Given the description of an element on the screen output the (x, y) to click on. 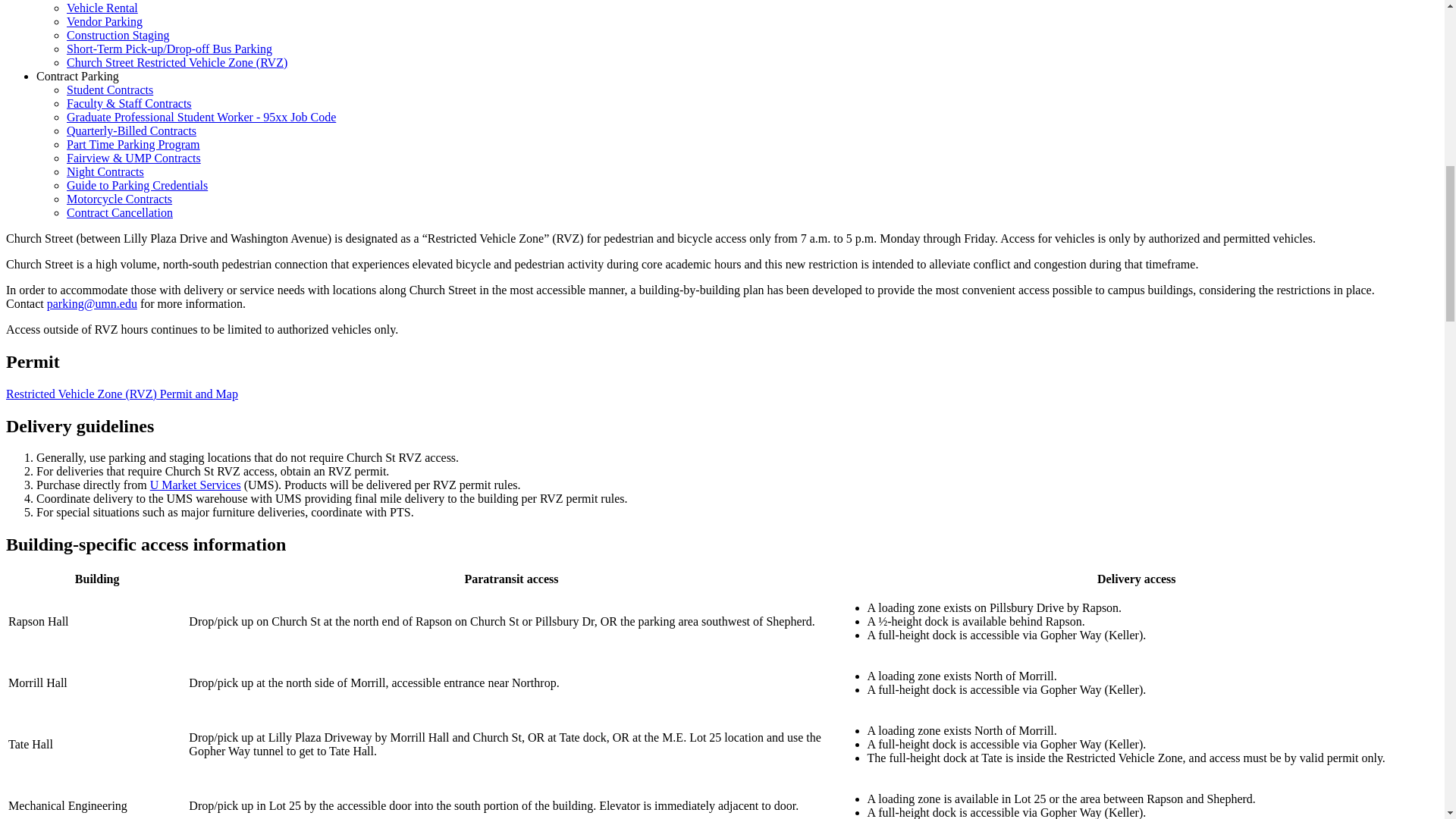
Email PTS (91, 303)
U Market Services (195, 484)
RSV Form (121, 393)
